Given the description of an element on the screen output the (x, y) to click on. 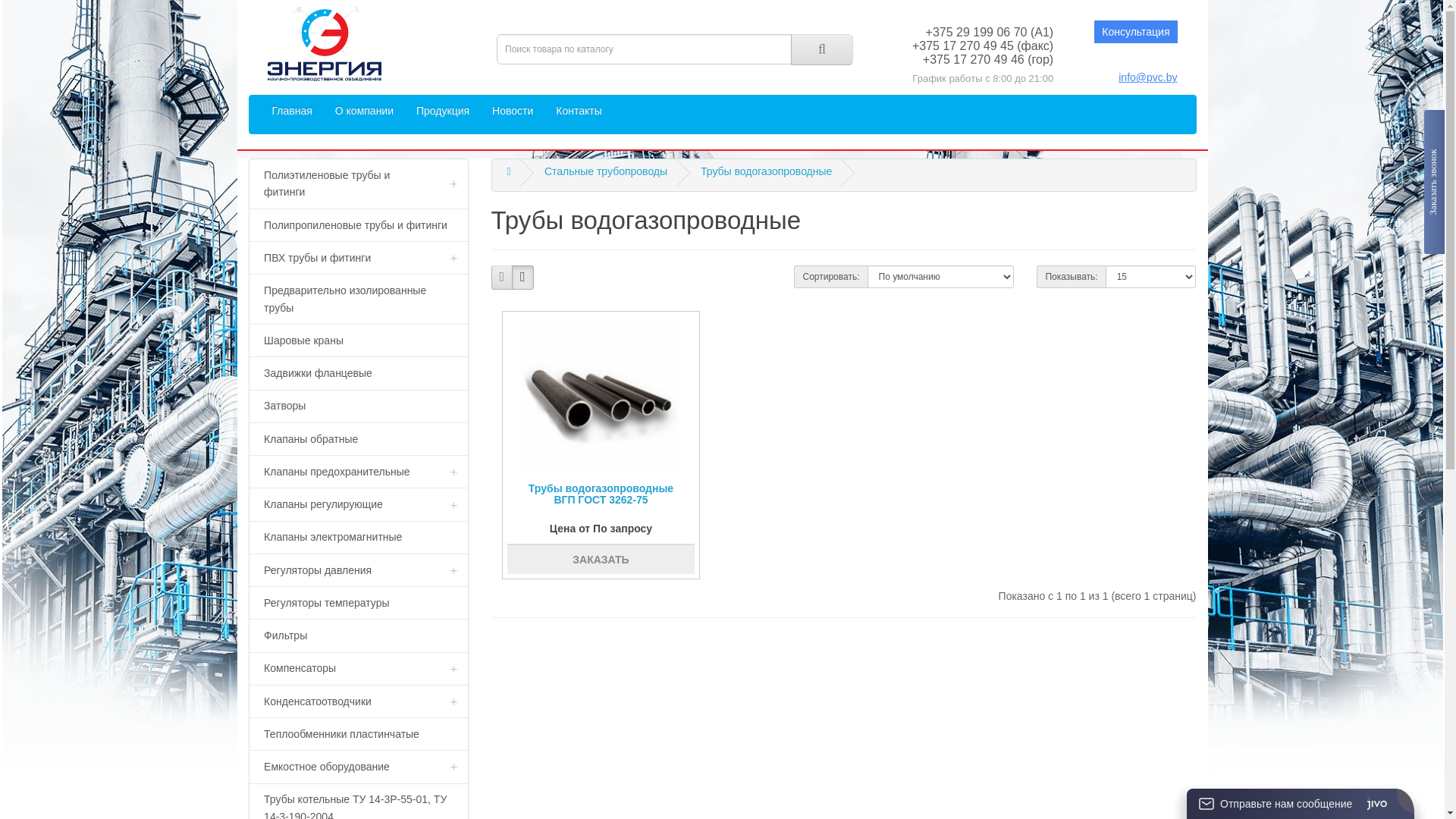
info@pvc.by Element type: text (1147, 77)
